Given the description of an element on the screen output the (x, y) to click on. 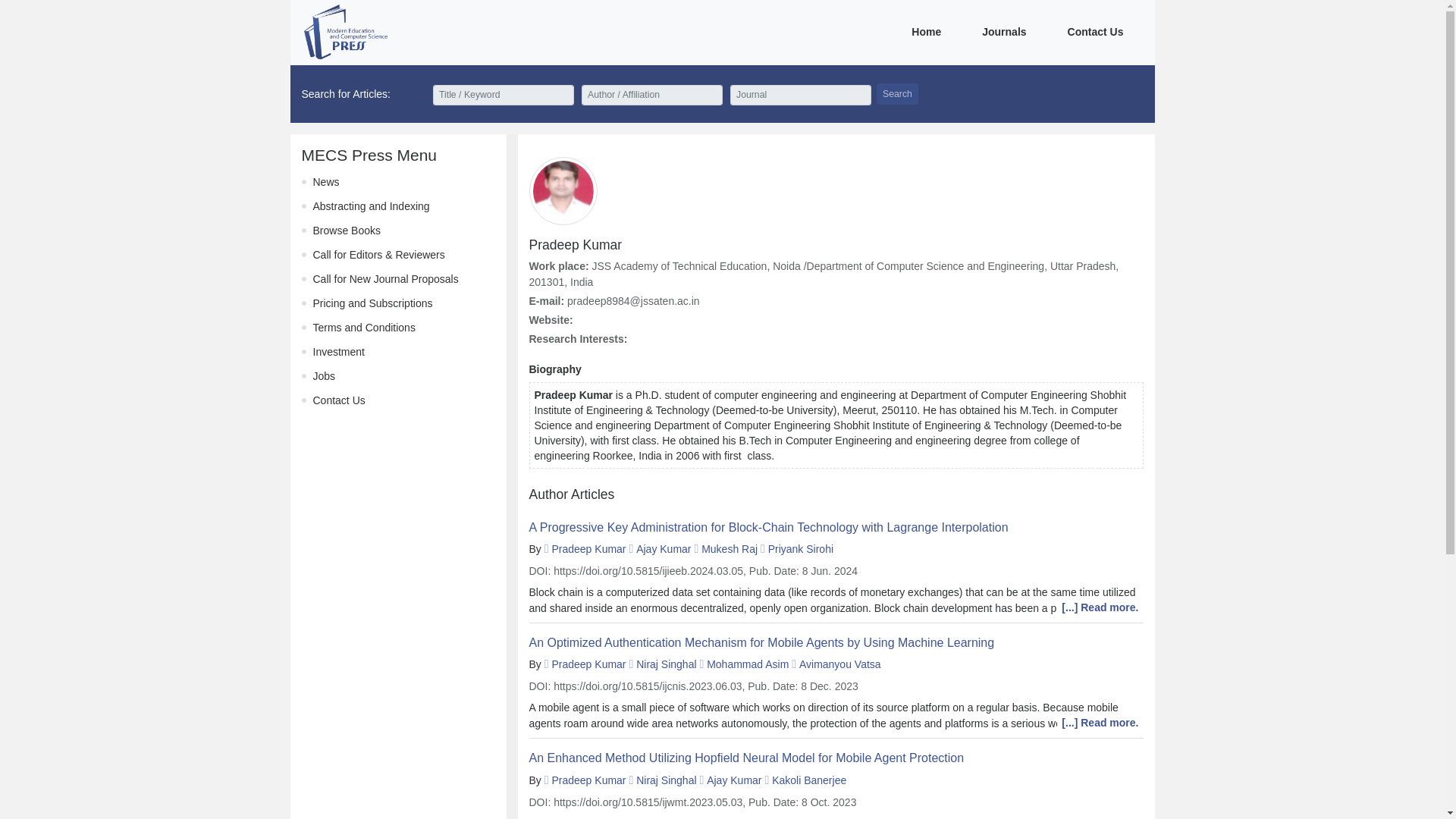
Avimanyou Vatsa (839, 664)
Pricing and Subscriptions (372, 303)
Terms and Conditions (363, 327)
Jobs (323, 376)
Contact Us (339, 399)
Pradeep Kumar (588, 779)
Mohammad Asim (747, 664)
